Given the description of an element on the screen output the (x, y) to click on. 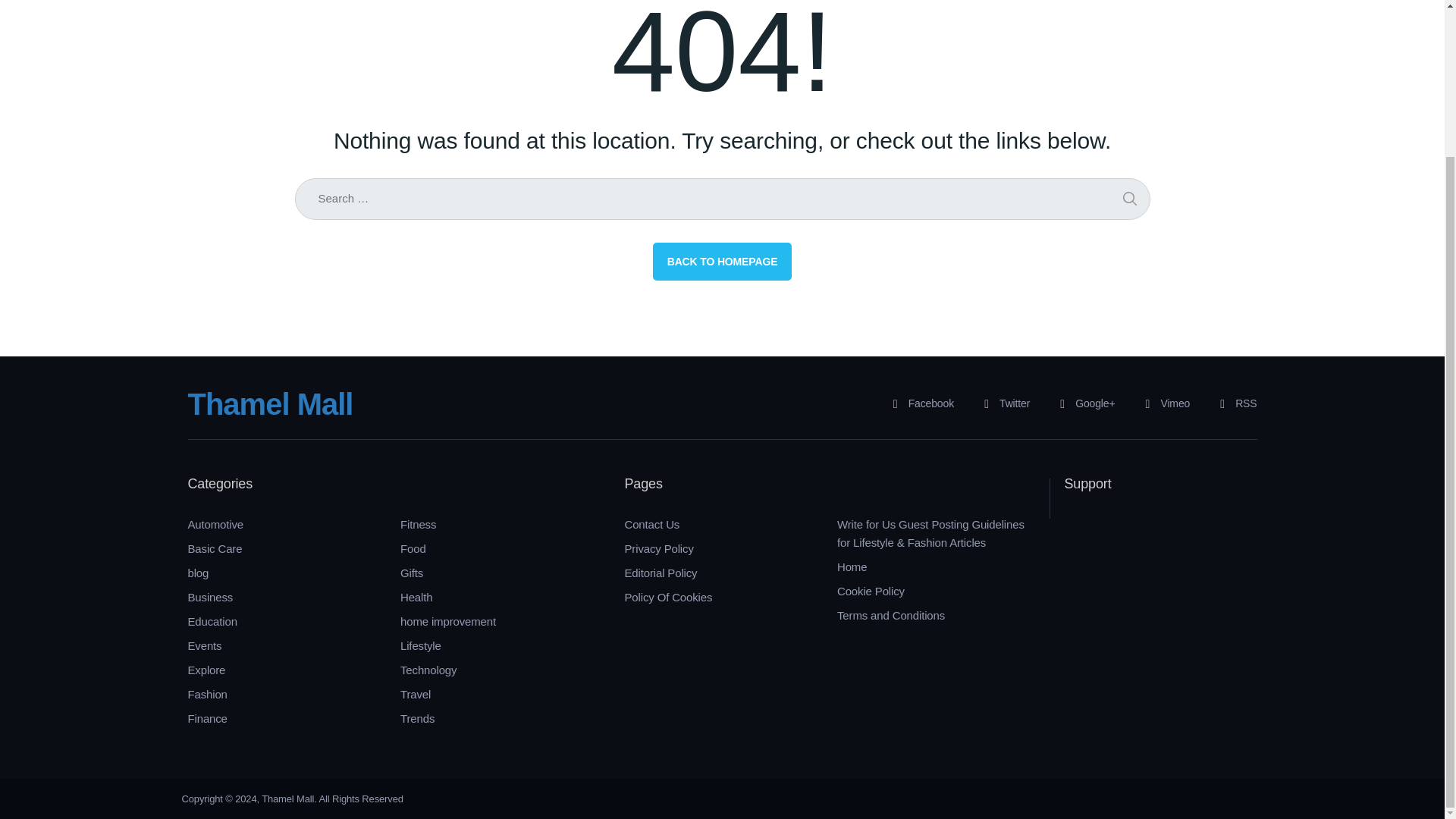
Facebook (917, 403)
Thamel Mall (270, 404)
Twitter (1001, 403)
SEARCH (1128, 199)
BACK TO HOMEPAGE (722, 260)
